Given the description of an element on the screen output the (x, y) to click on. 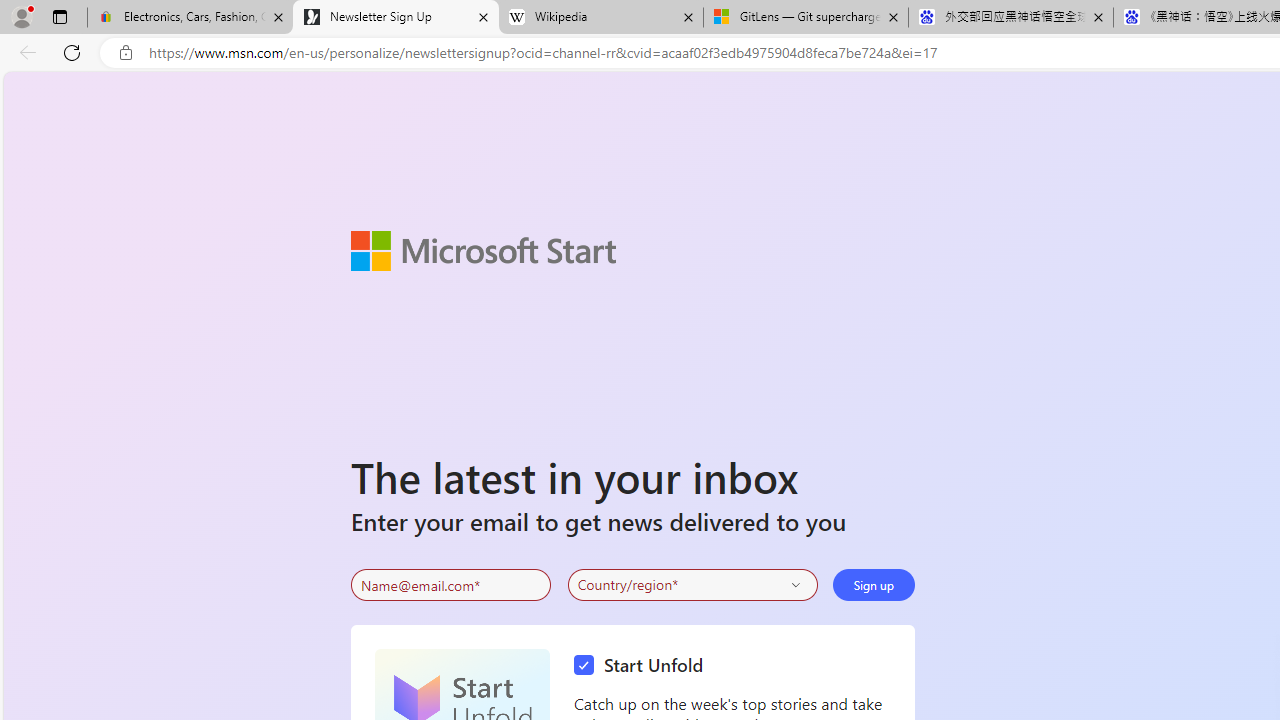
Newsletter Sign Up (395, 17)
Start Unfold (643, 665)
Enter your email (450, 585)
Sign up (873, 584)
Select your country (692, 584)
